Given the description of an element on the screen output the (x, y) to click on. 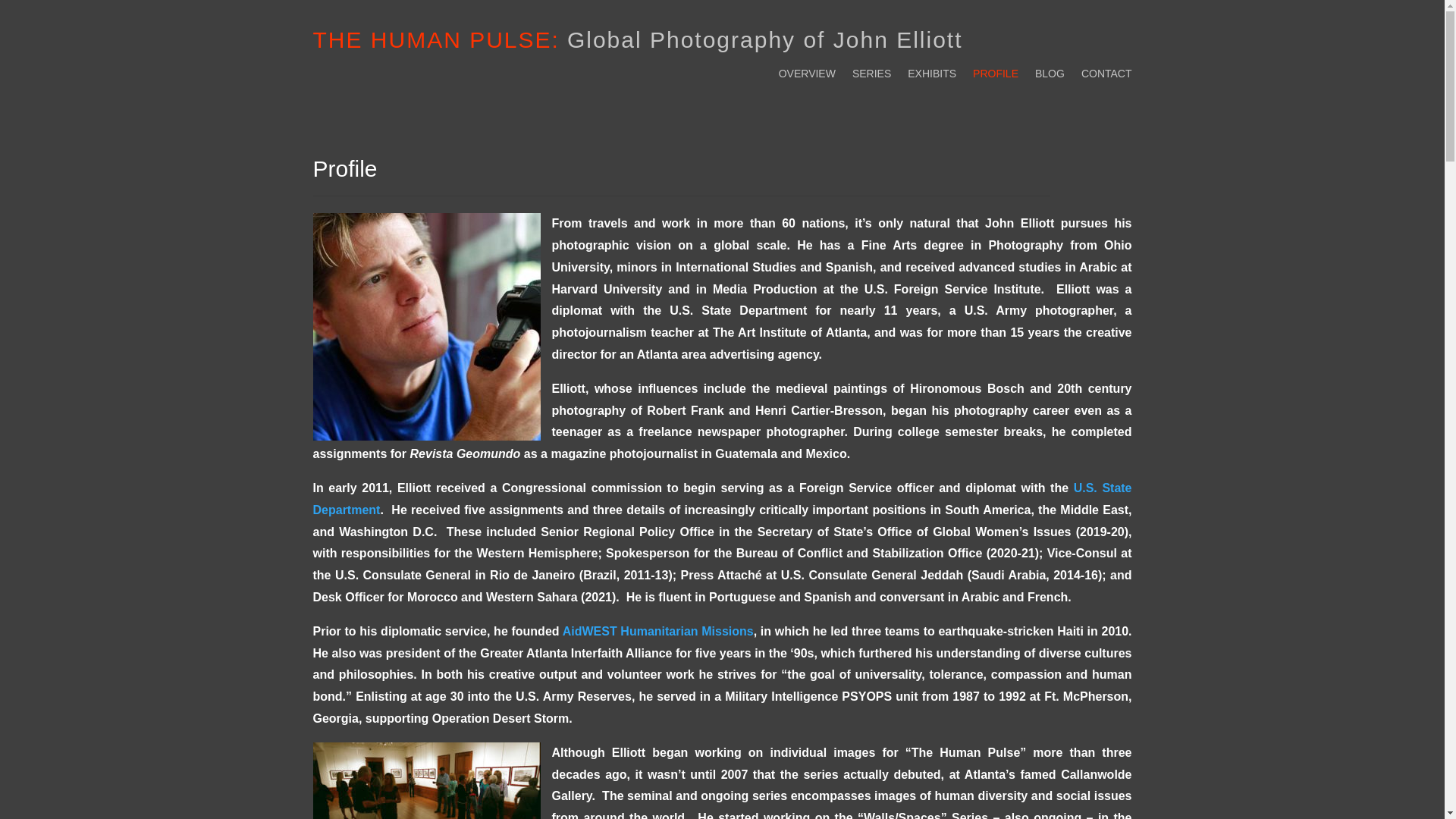
PROFILE (994, 76)
EXHIBITS (931, 76)
BLOG (1049, 76)
U.S. State Department (722, 498)
AidWEST Humanitarian Missions (658, 631)
CONTACT (1106, 76)
SERIES (871, 76)
OVERVIEW (806, 76)
